Given the description of an element on the screen output the (x, y) to click on. 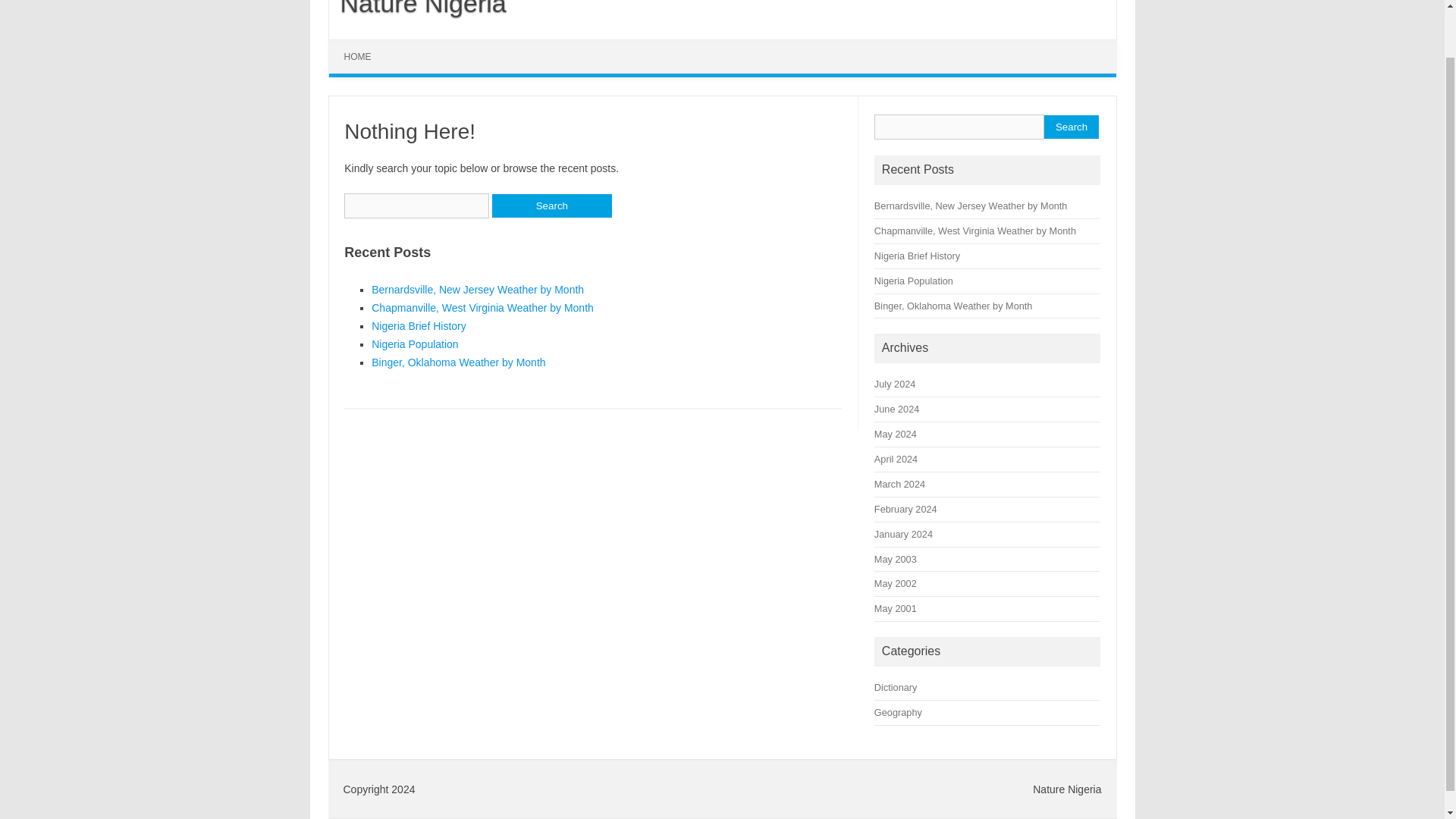
April 2024 (896, 459)
January 2024 (904, 533)
July 2024 (895, 383)
Chapmanville, West Virginia Weather by Month (482, 307)
Nature Nigeria (417, 8)
Bernardsville, New Jersey Weather by Month (477, 289)
March 2024 (899, 483)
May 2001 (896, 608)
HOME (358, 56)
Dictionary (896, 686)
